Given the description of an element on the screen output the (x, y) to click on. 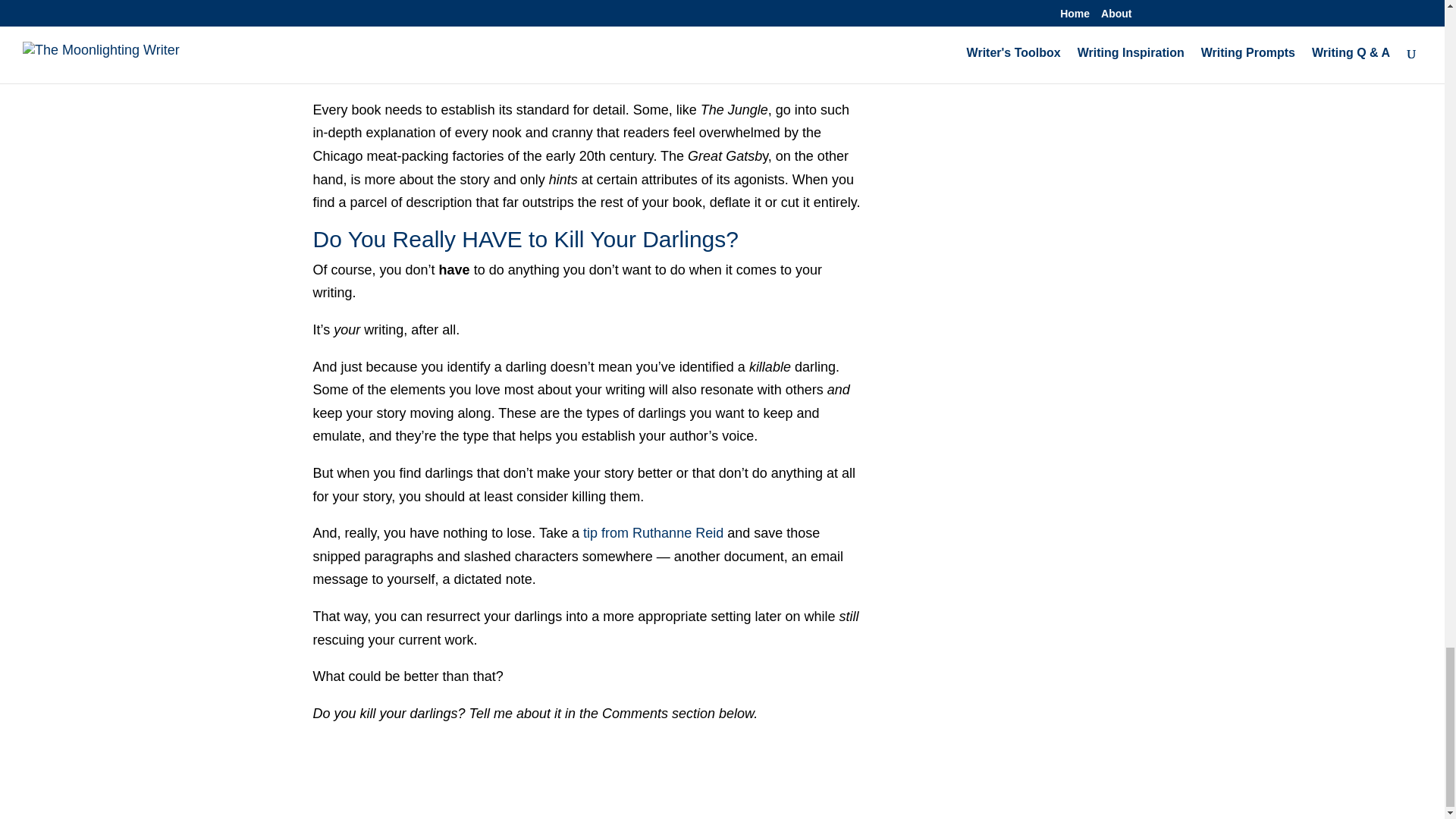
tip from Ruthanne Reid (653, 532)
